Given the description of an element on the screen output the (x, y) to click on. 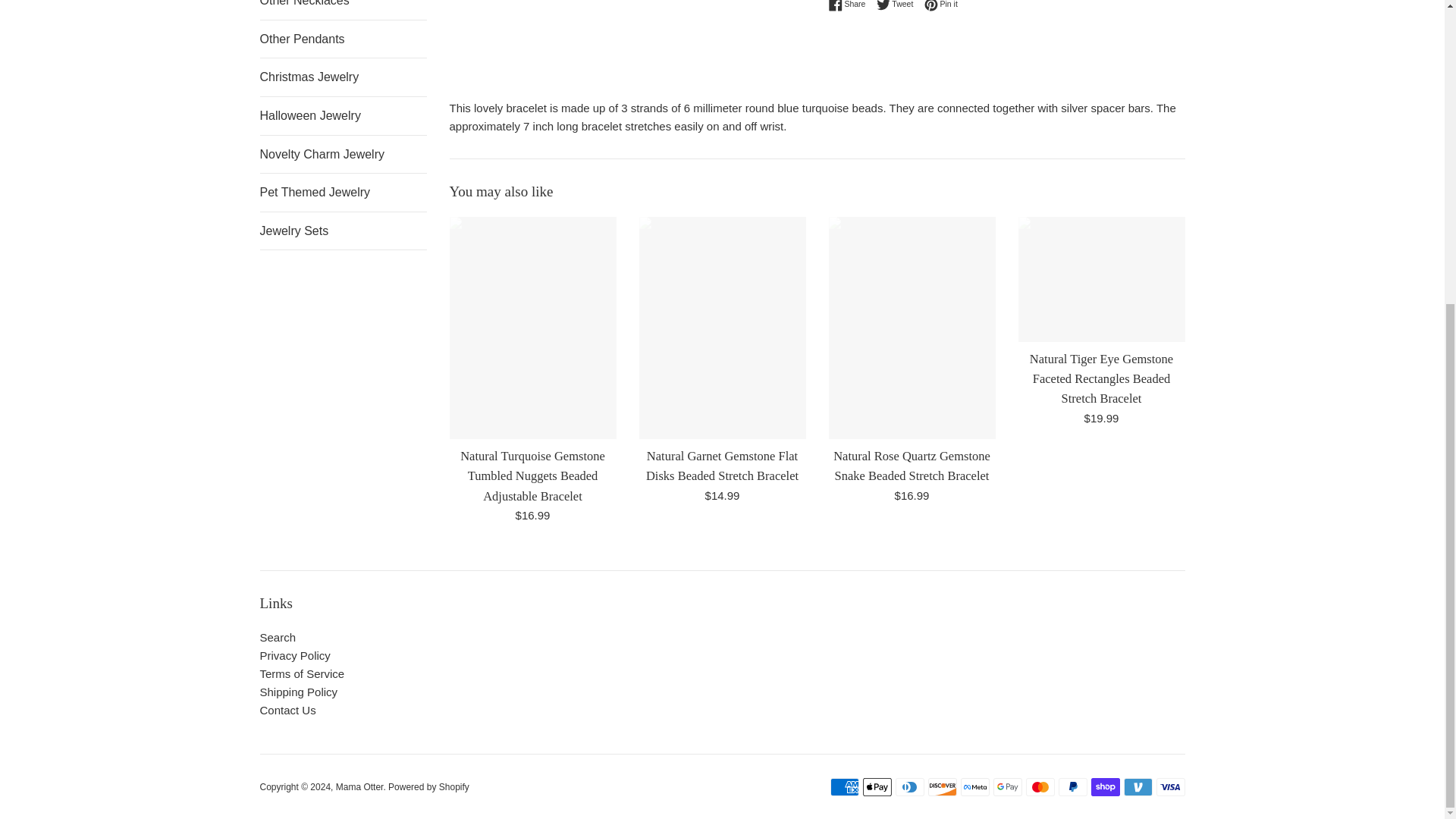
Novelty Charm Jewelry (342, 154)
American Express (844, 787)
Meta Pay (973, 787)
Apple Pay (877, 787)
Visa (1170, 787)
Venmo (1138, 787)
Pet Themed Jewelry (342, 192)
Christmas Jewelry (342, 77)
Halloween Jewelry (342, 116)
Jewelry Sets (342, 231)
Google Pay (1007, 787)
Pin on Pinterest (941, 5)
Share on Facebook (941, 5)
